Given the description of an element on the screen output the (x, y) to click on. 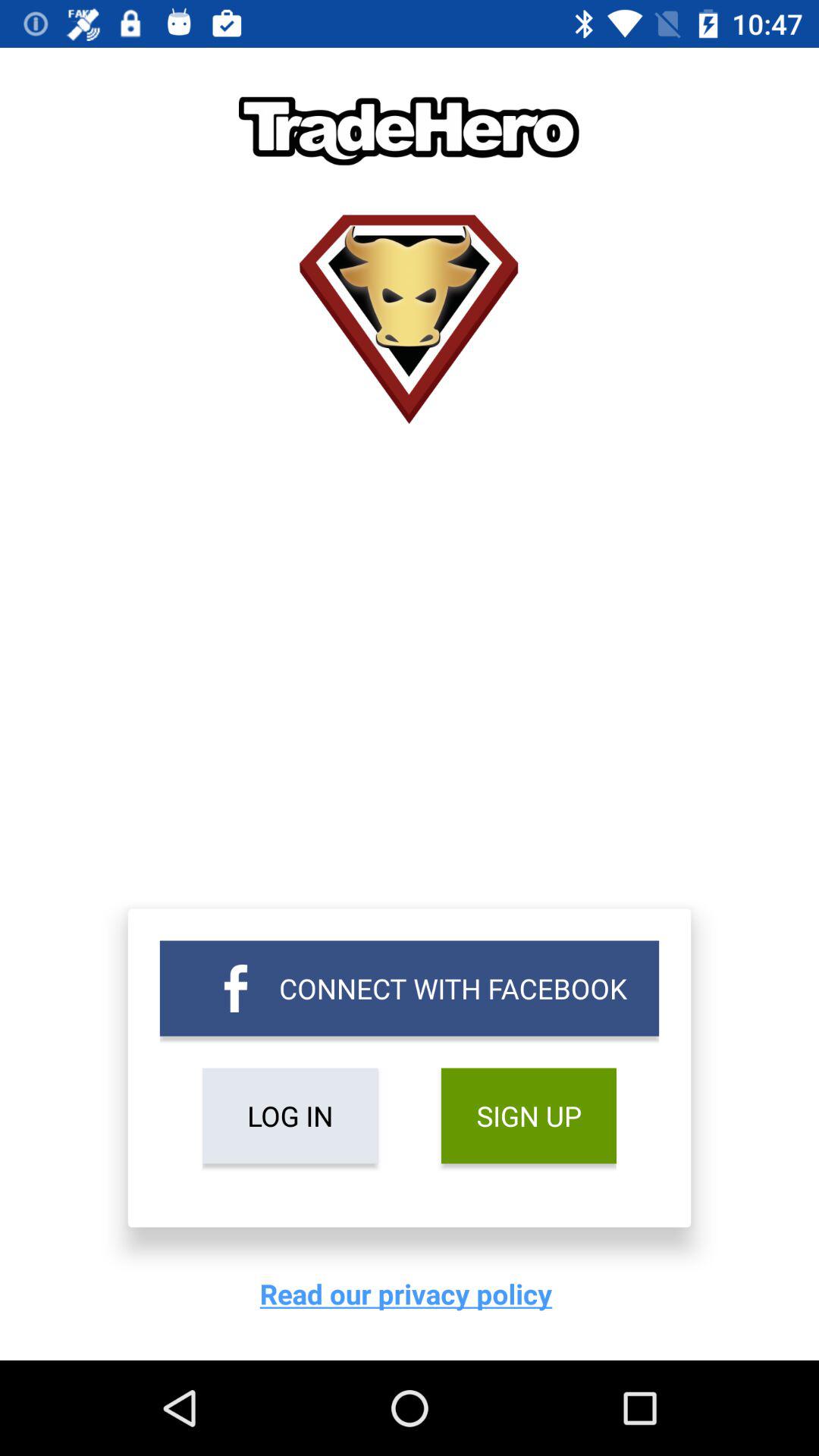
flip until the sign up icon (528, 1115)
